Given the description of an element on the screen output the (x, y) to click on. 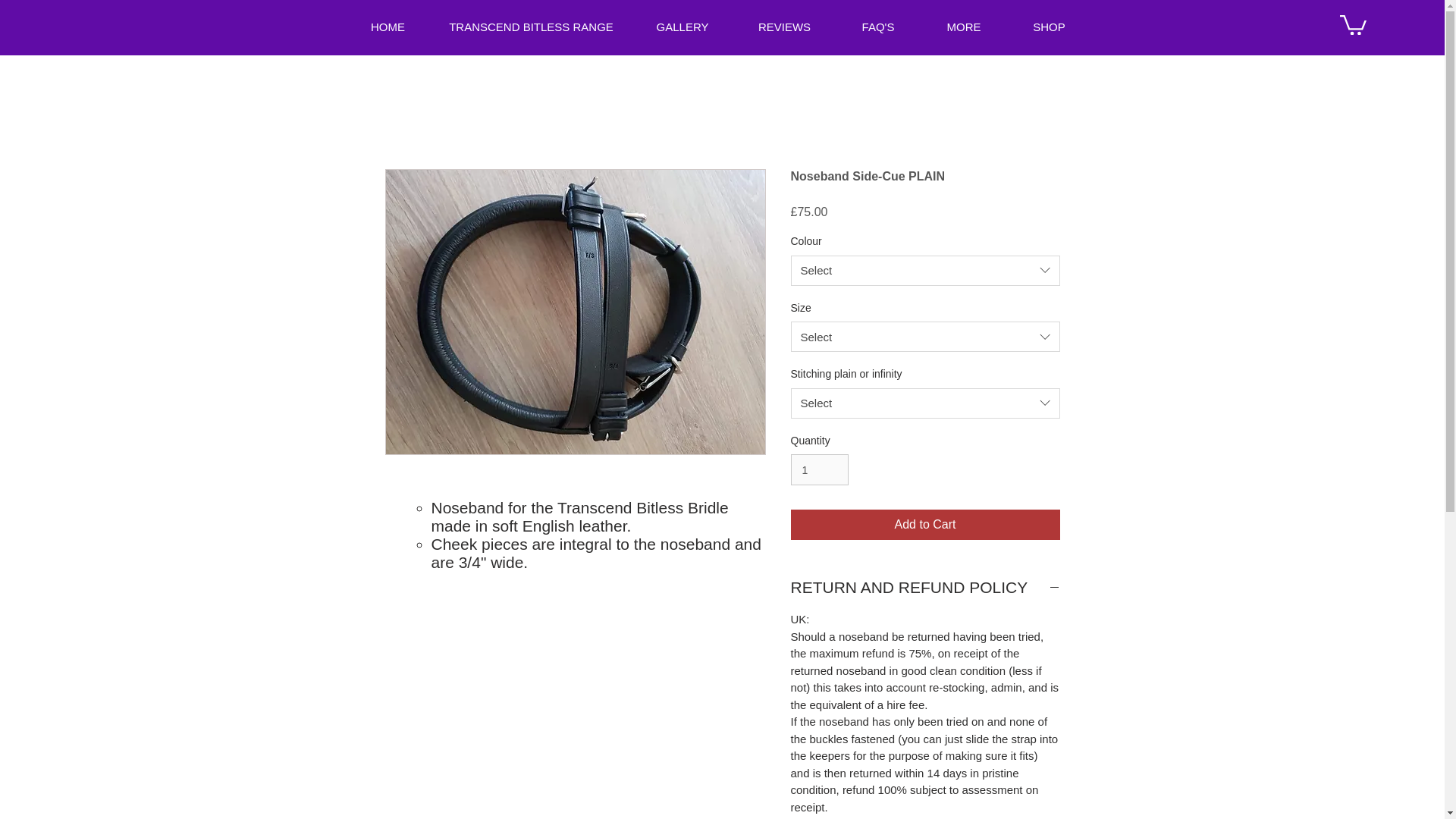
TRANSCEND BITLESS RANGE (530, 27)
HOME (386, 27)
MORE (963, 27)
1 (818, 469)
RETURN AND REFUND POLICY (924, 587)
FAQ'S (878, 27)
Select (924, 403)
SHOP (1049, 27)
Add to Cart (924, 524)
Select (924, 336)
REVIEWS (784, 27)
GALLERY (681, 27)
Select (924, 270)
